Given the description of an element on the screen output the (x, y) to click on. 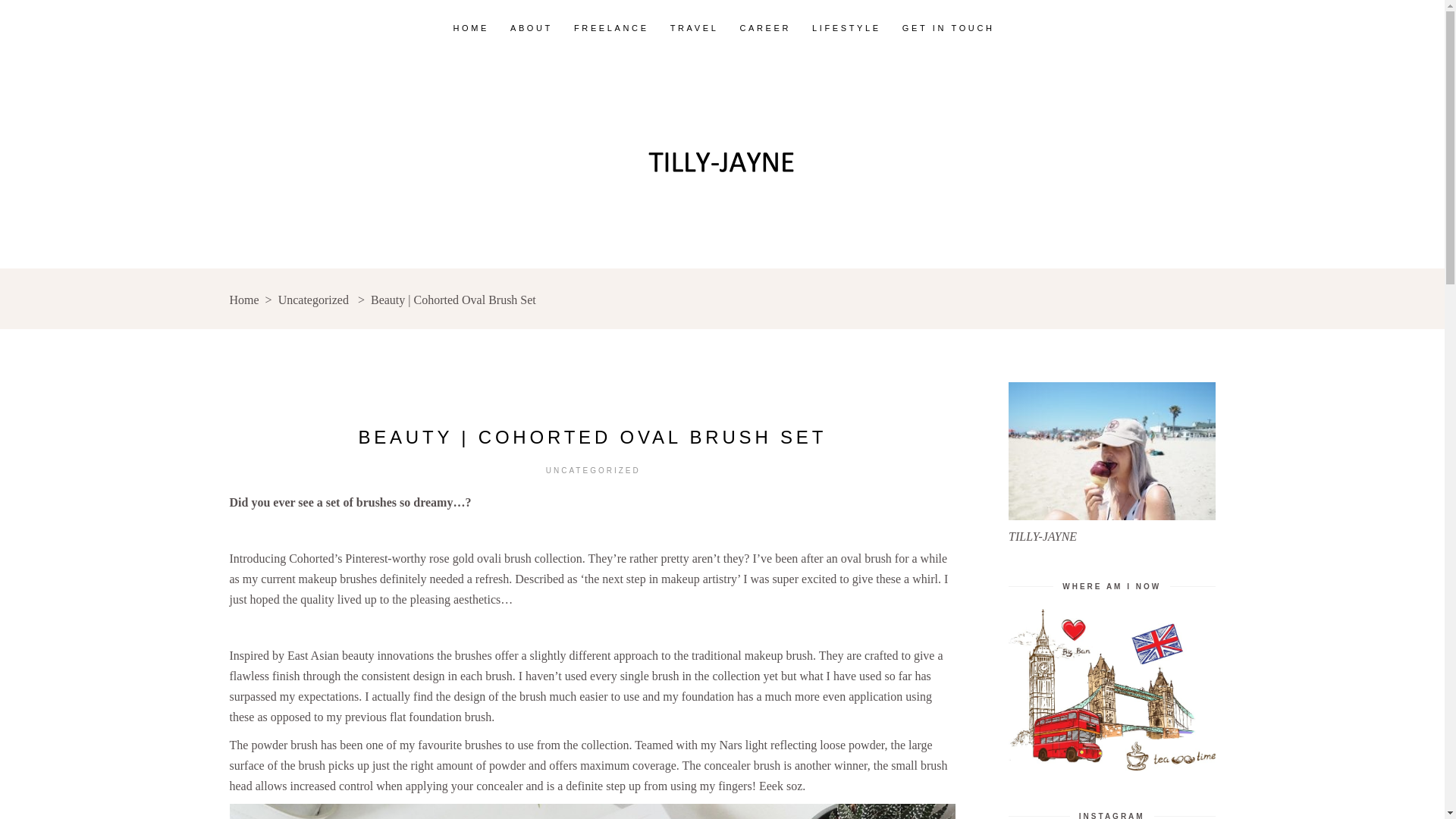
TRAVEL (694, 27)
UNCATEGORIZED (593, 470)
GET IN TOUCH (948, 27)
ABOUT (531, 27)
Uncategorized (313, 299)
Home (243, 299)
LIFESTYLE (846, 27)
HOME (470, 27)
FREELANCE (611, 27)
CAREER (765, 27)
